Given the description of an element on the screen output the (x, y) to click on. 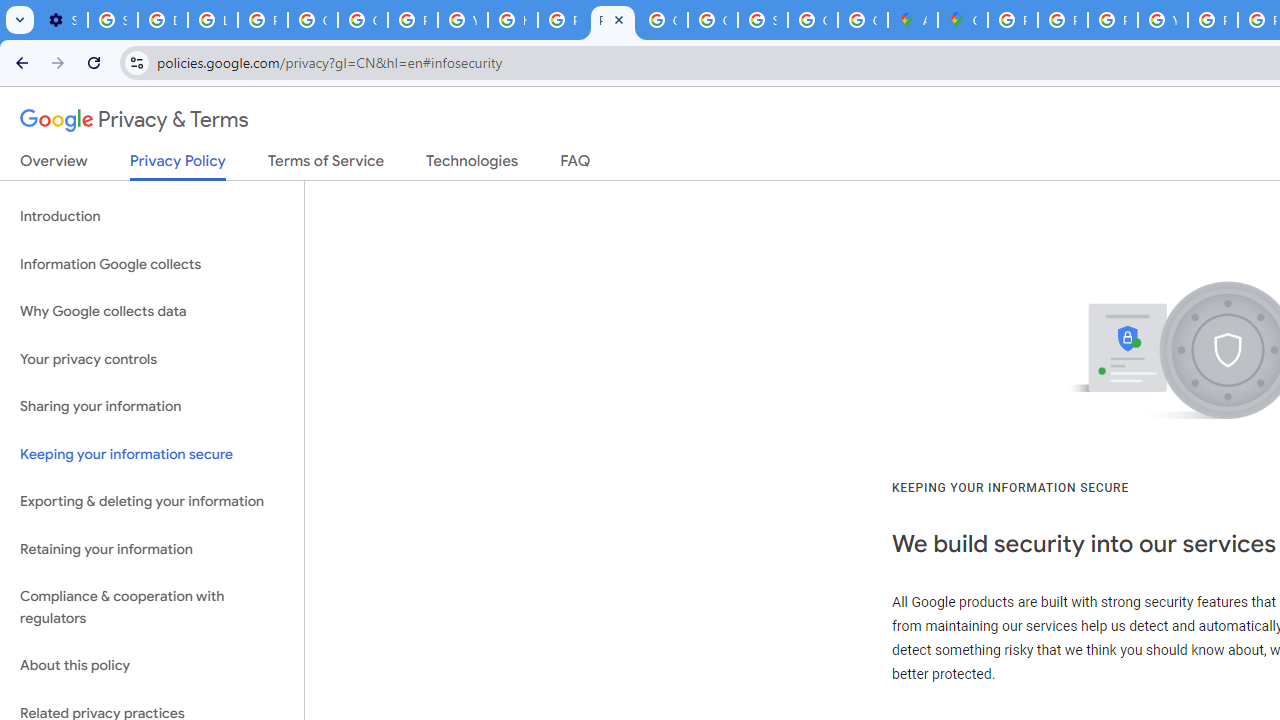
Retaining your information (152, 548)
Sign in - Google Accounts (763, 20)
Privacy & Terms (134, 120)
Create your Google Account (863, 20)
Delete photos & videos - Computer - Google Photos Help (163, 20)
https://scholar.google.com/ (512, 20)
Google Account Help (312, 20)
Your privacy controls (152, 358)
Privacy Help Center - Policies Help (1062, 20)
Policy Accountability and Transparency - Transparency Center (1013, 20)
Privacy Help Center - Policies Help (562, 20)
